Given the description of an element on the screen output the (x, y) to click on. 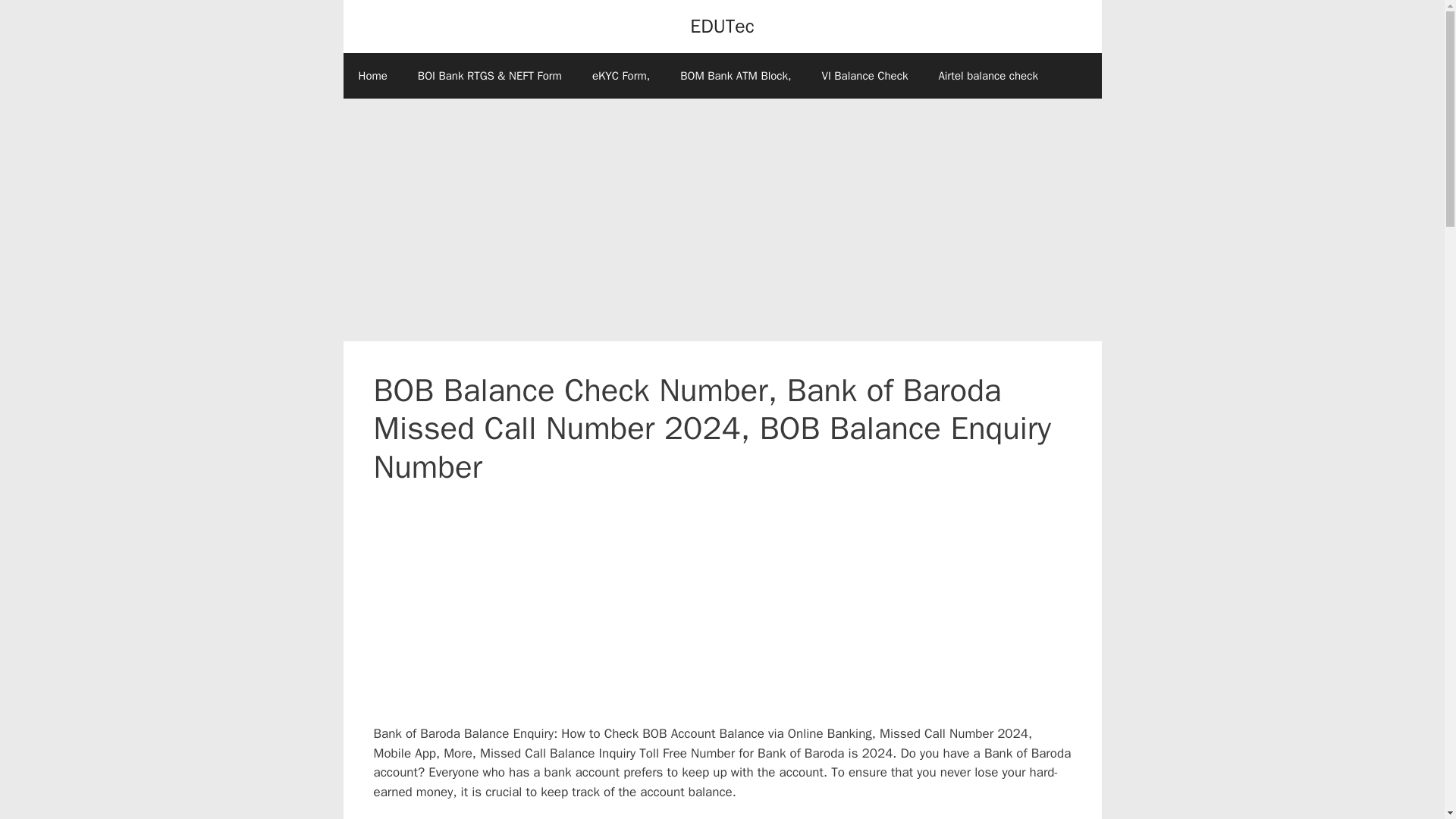
eKYC Form, (620, 75)
BOM Bank ATM Block, (735, 75)
Airtel balance check (987, 75)
VI Balance Check (864, 75)
EDUTec (722, 25)
Home (371, 75)
